Given the description of an element on the screen output the (x, y) to click on. 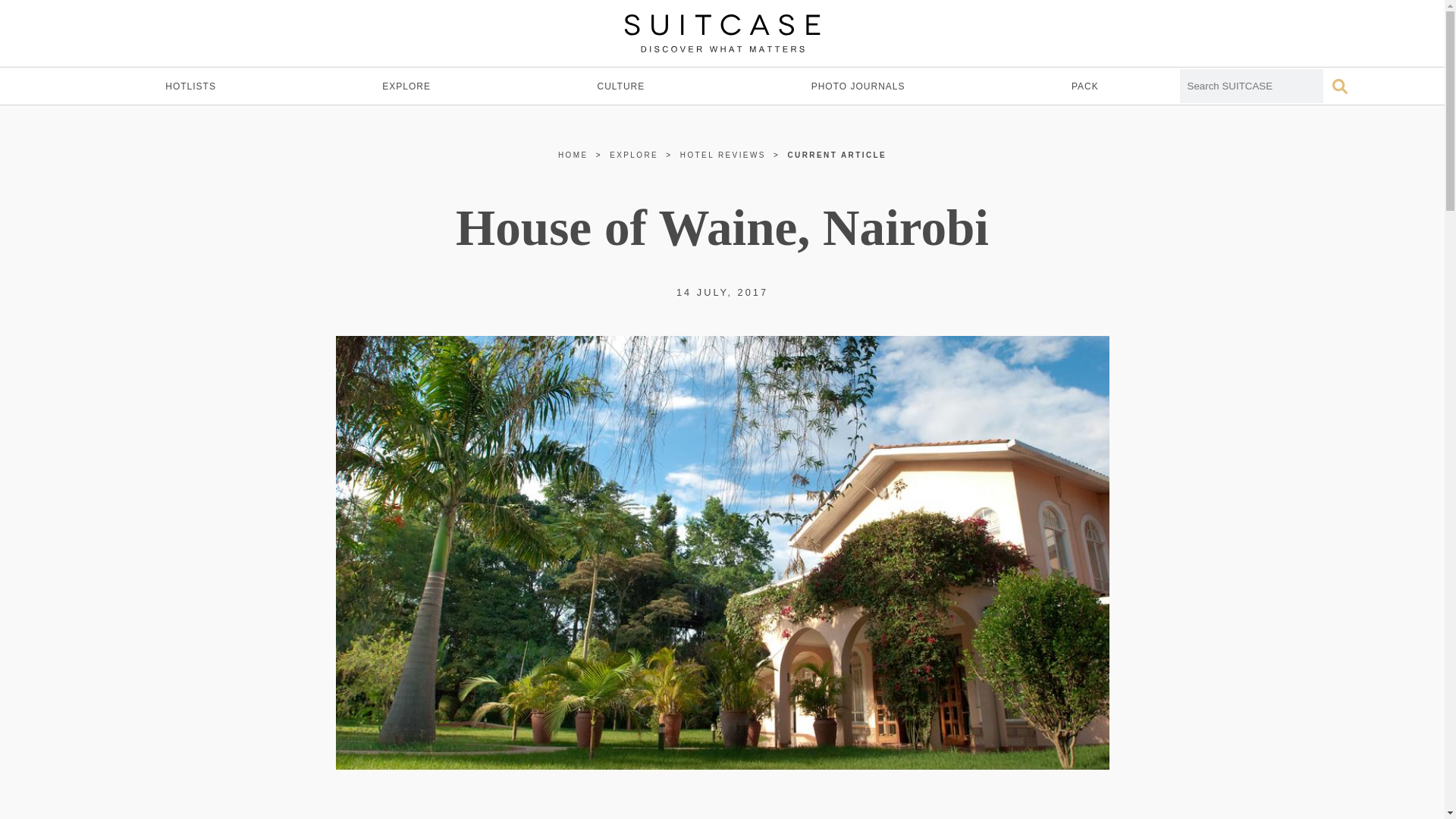
HOME (572, 154)
CULTURE (619, 85)
EXPLORE (634, 154)
HOTEL REVIEWS (722, 154)
HOTLISTS (190, 85)
PHOTO JOURNALS (858, 85)
PACK (1085, 85)
EXPLORE (405, 85)
CURRENT ARTICLE (836, 154)
